Given the description of an element on the screen output the (x, y) to click on. 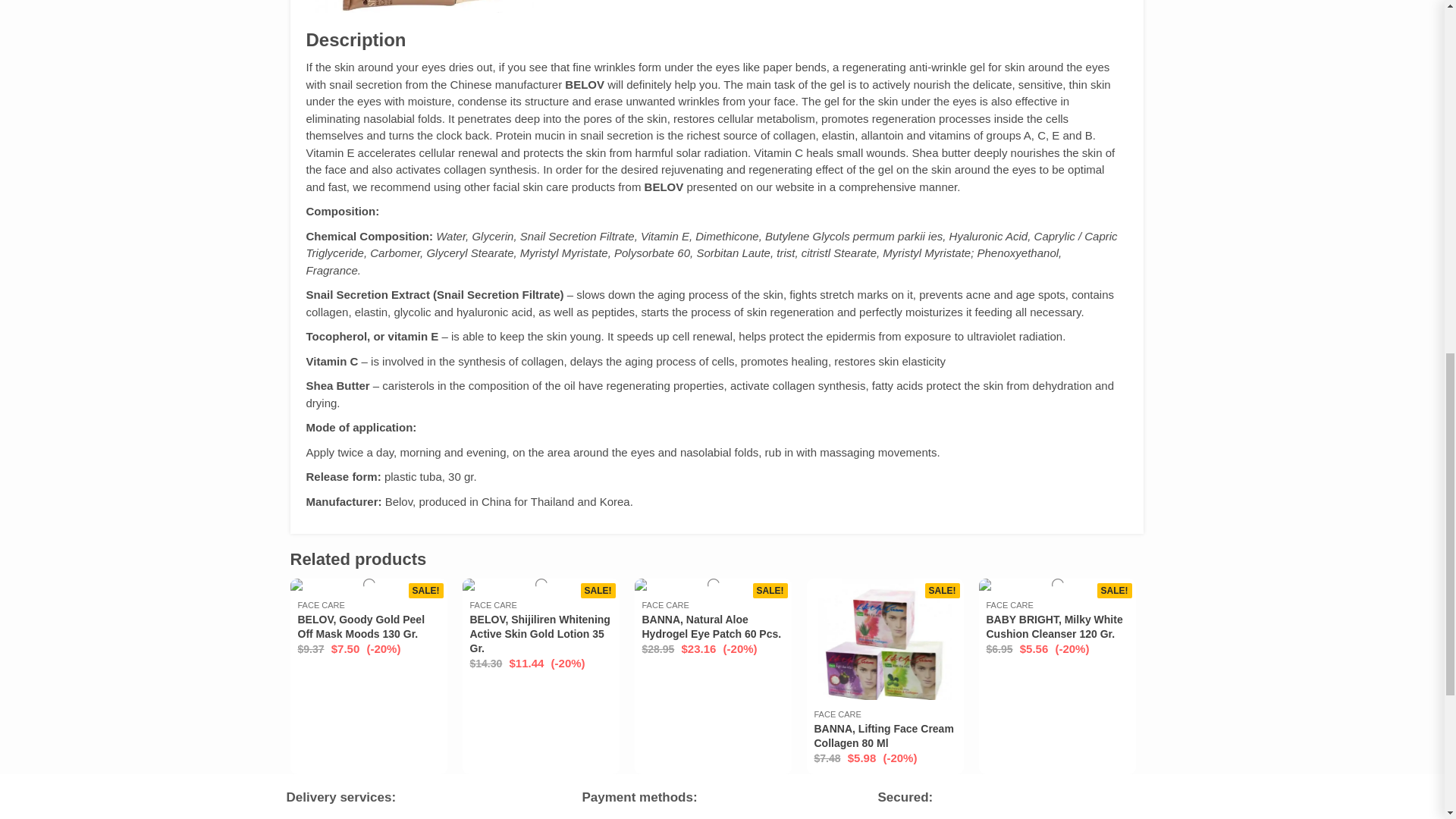
FACE CARE (1008, 604)
BANNA, Lifting Face Cream Collagen 80 Ml (883, 735)
FACE CARE (320, 604)
BELOV, Goody Gold Peel Off Mask Moods 130 Gr. (361, 626)
FACE CARE (493, 604)
BANNA, Natural Aloe Hydrogel Eye Patch 60 Pcs. (711, 626)
BABY BRIGHT, Milky White Cushion Cleanser 120 Gr. (1053, 626)
FACE CARE (665, 604)
BELOV, Shijiliren Whitening Active Skin Gold Lotion 35 Gr. (540, 633)
FACE CARE (837, 714)
